Given the description of an element on the screen output the (x, y) to click on. 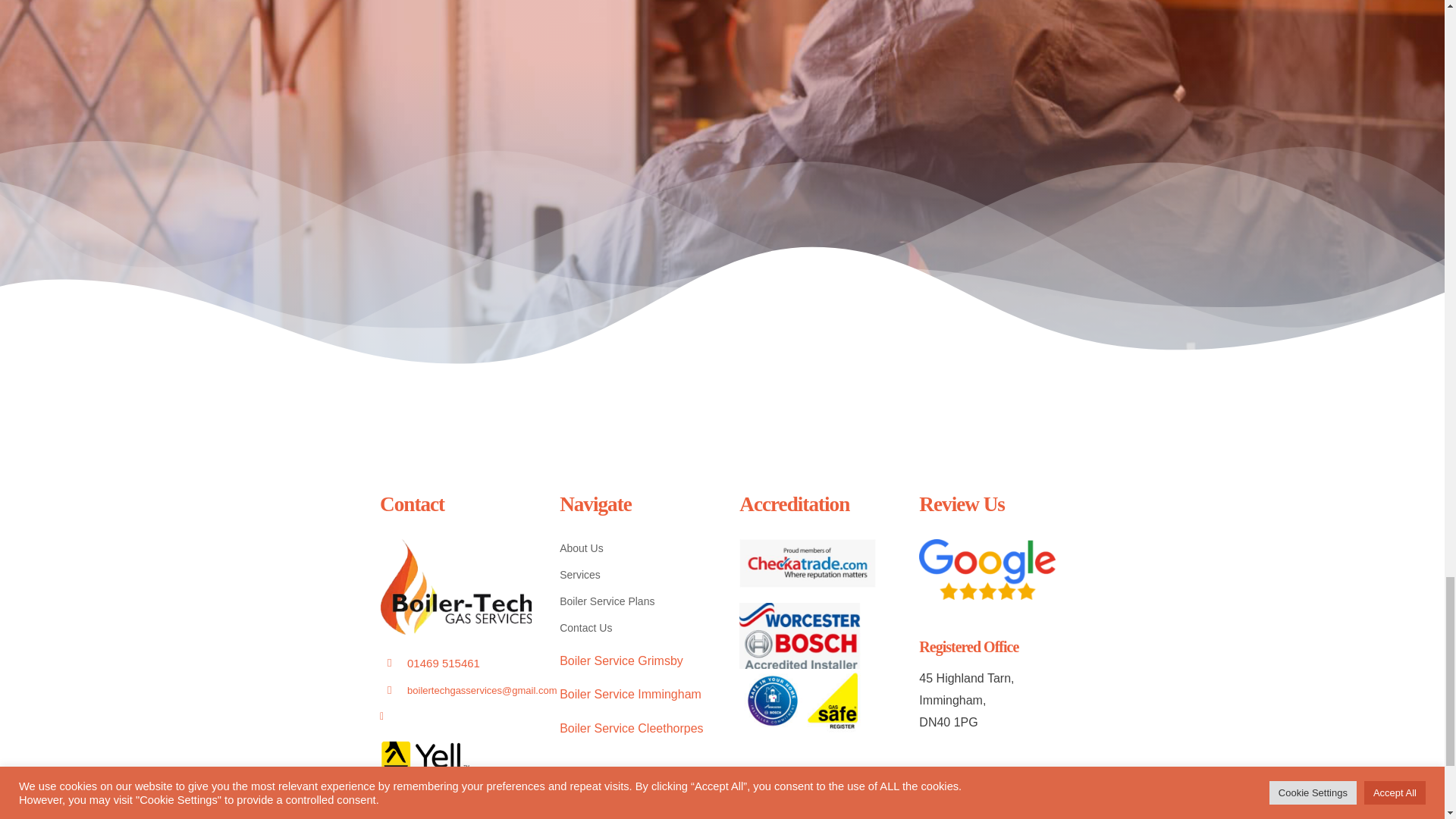
About Us (631, 547)
Boiler Tech Gas Services (455, 586)
Contact Us (631, 628)
Services (631, 574)
01469 515461 (443, 662)
Gas Safe (799, 701)
Worcester BOSCH Accredited Installer (799, 635)
Google Reviews 5 Star (986, 568)
Boiler Service Plans (631, 601)
